Given the description of an element on the screen output the (x, y) to click on. 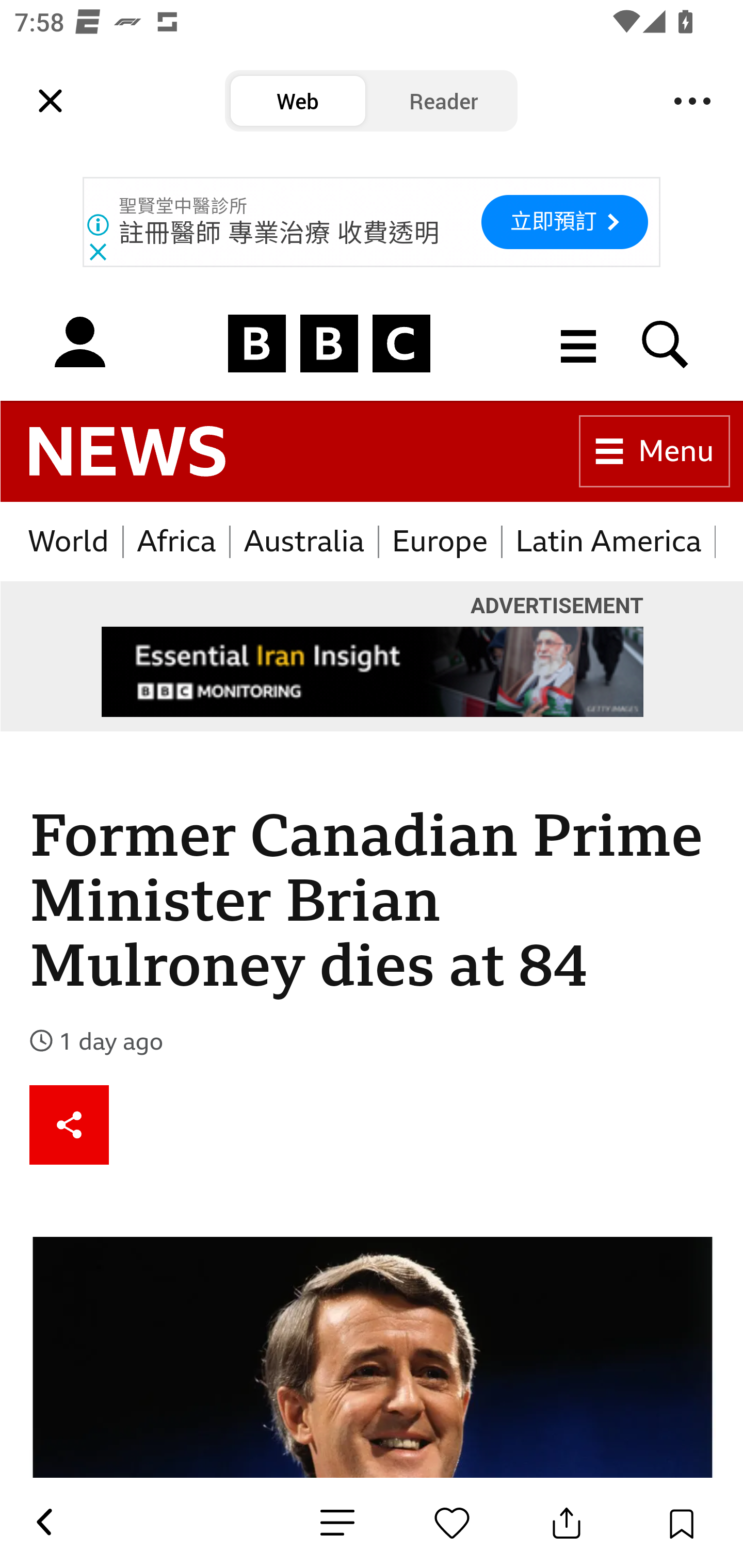
Leading Icon (50, 101)
Reader (443, 101)
Menu (692, 101)
聖賢堂中醫診所 (183, 205)
立即預訂 (564, 221)
註冊醫師 專業治療 收費透明 (279, 232)
Sign in (79, 343)
BBC Homepage (329, 343)
More menu (578, 343)
Search BBC (665, 343)
BBC News (127, 452)
Menu (654, 452)
World (69, 541)
Africa (177, 541)
Australia (304, 541)
Europe (439, 541)
Latin America (608, 541)
Share (69, 1124)
Back Button (43, 1523)
News Detail Emotion (451, 1523)
Share Button (566, 1523)
Save Button (680, 1523)
News Detail Emotion (337, 1523)
